Given the description of an element on the screen output the (x, y) to click on. 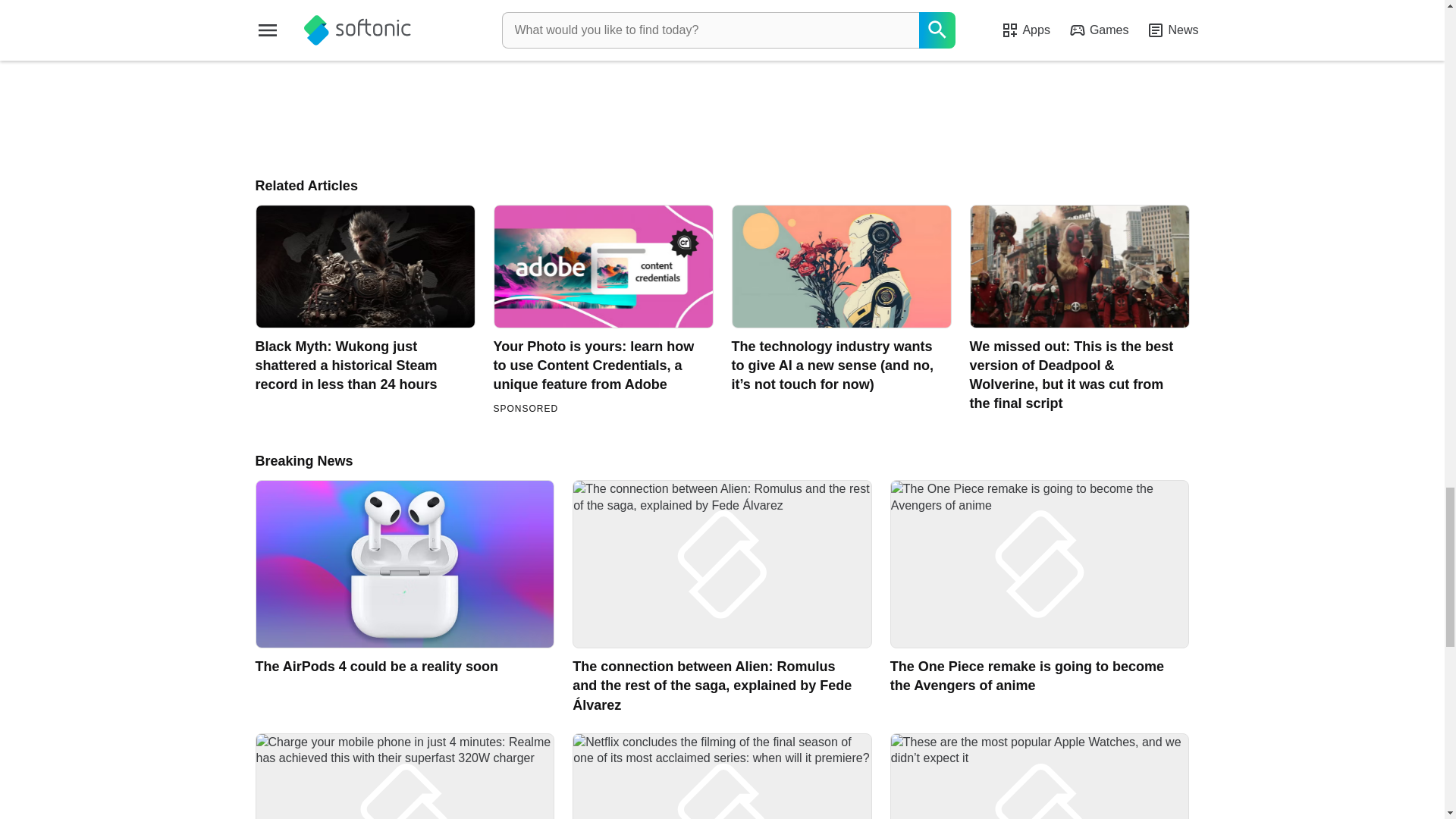
The AirPods 4 could be a reality soon (404, 596)
